Given the description of an element on the screen output the (x, y) to click on. 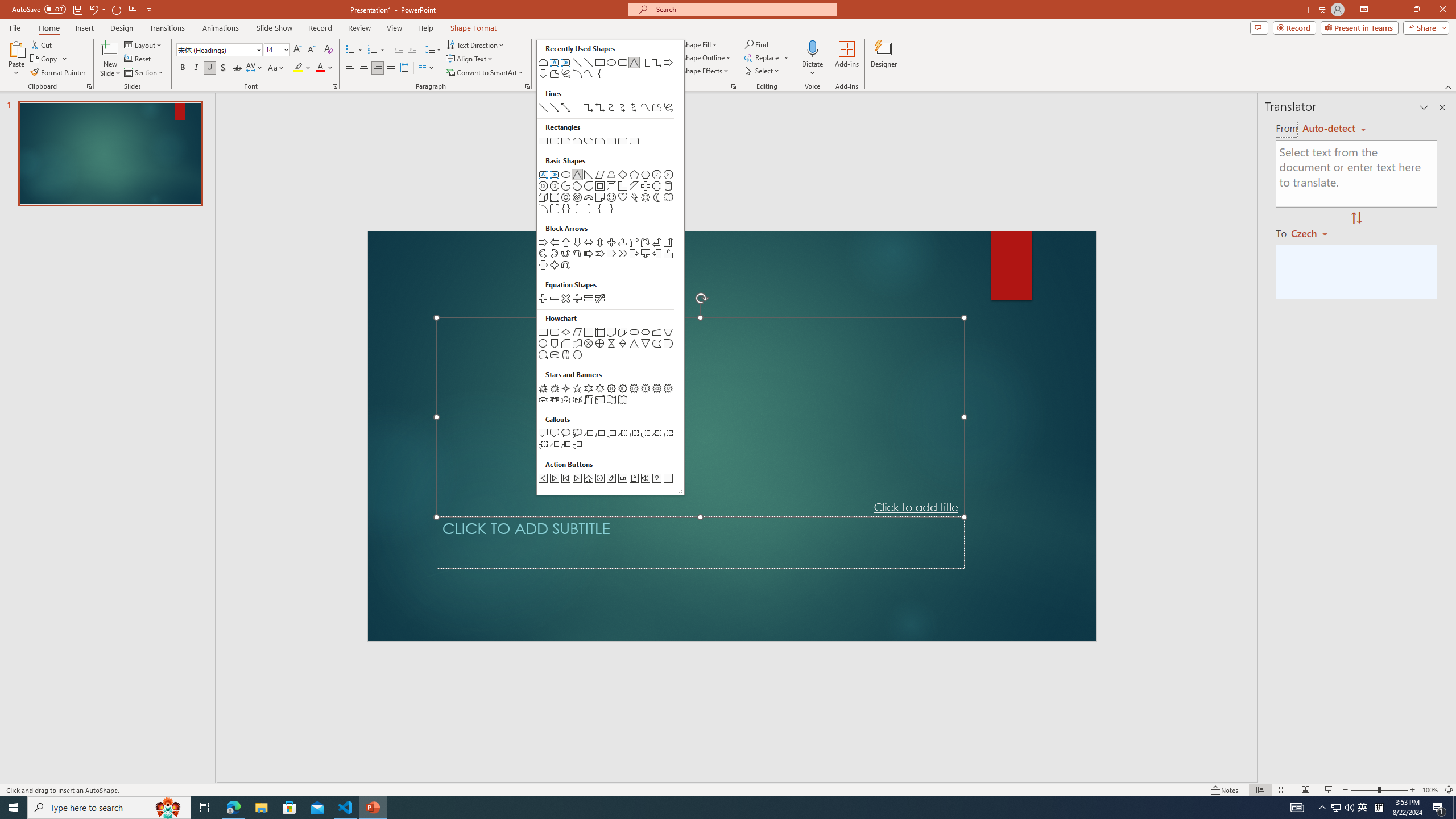
Center (363, 67)
Font Color Red (320, 67)
Layout (143, 44)
Zoom 100% (1430, 790)
Auto-detect (1334, 128)
